Given the description of an element on the screen output the (x, y) to click on. 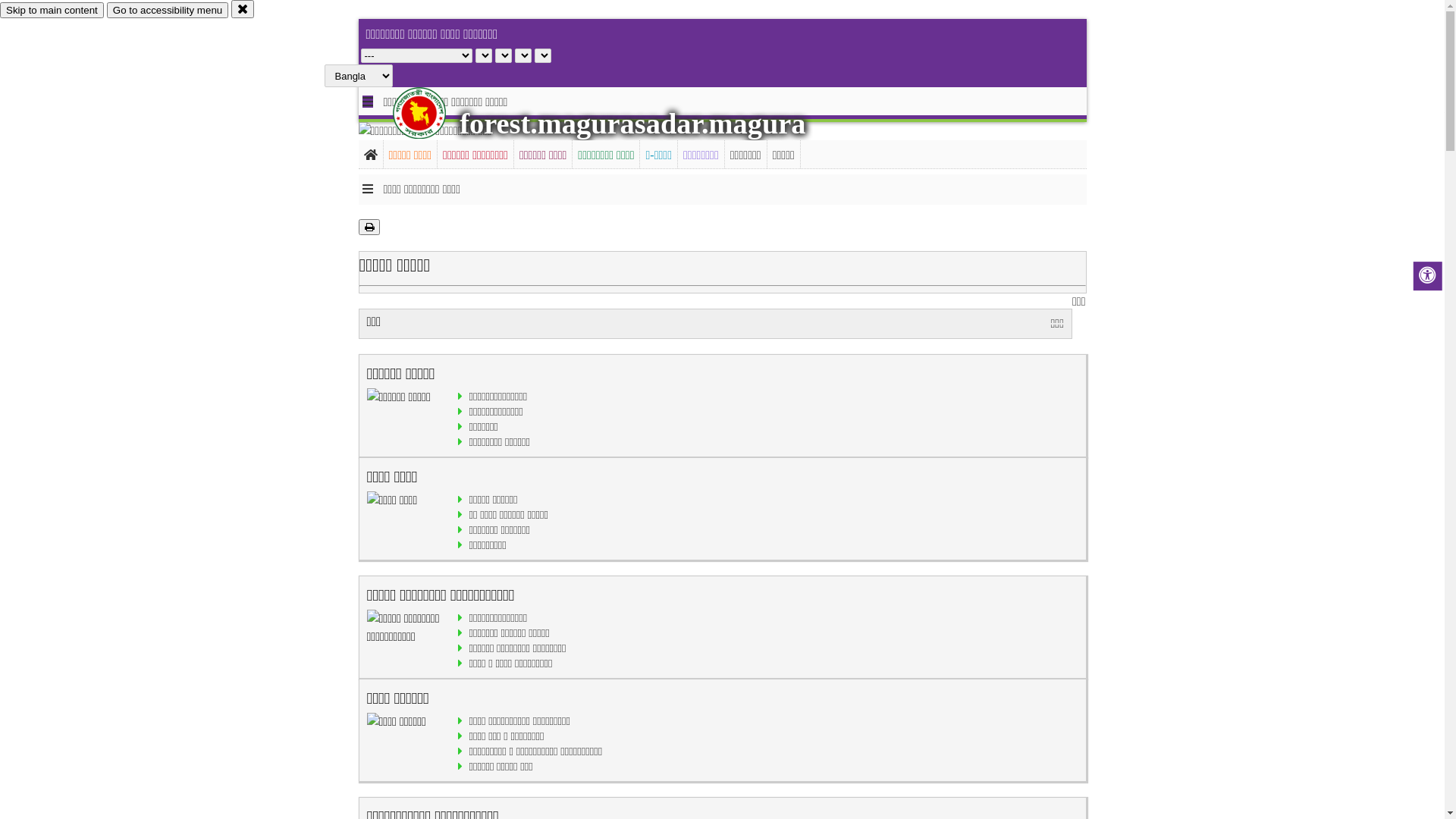

                
             Element type: hover (431, 112)
forest.magurasadar.magura Element type: text (632, 123)
close Element type: hover (242, 9)
Go to accessibility menu Element type: text (167, 10)
Skip to main content Element type: text (51, 10)
